Given the description of an element on the screen output the (x, y) to click on. 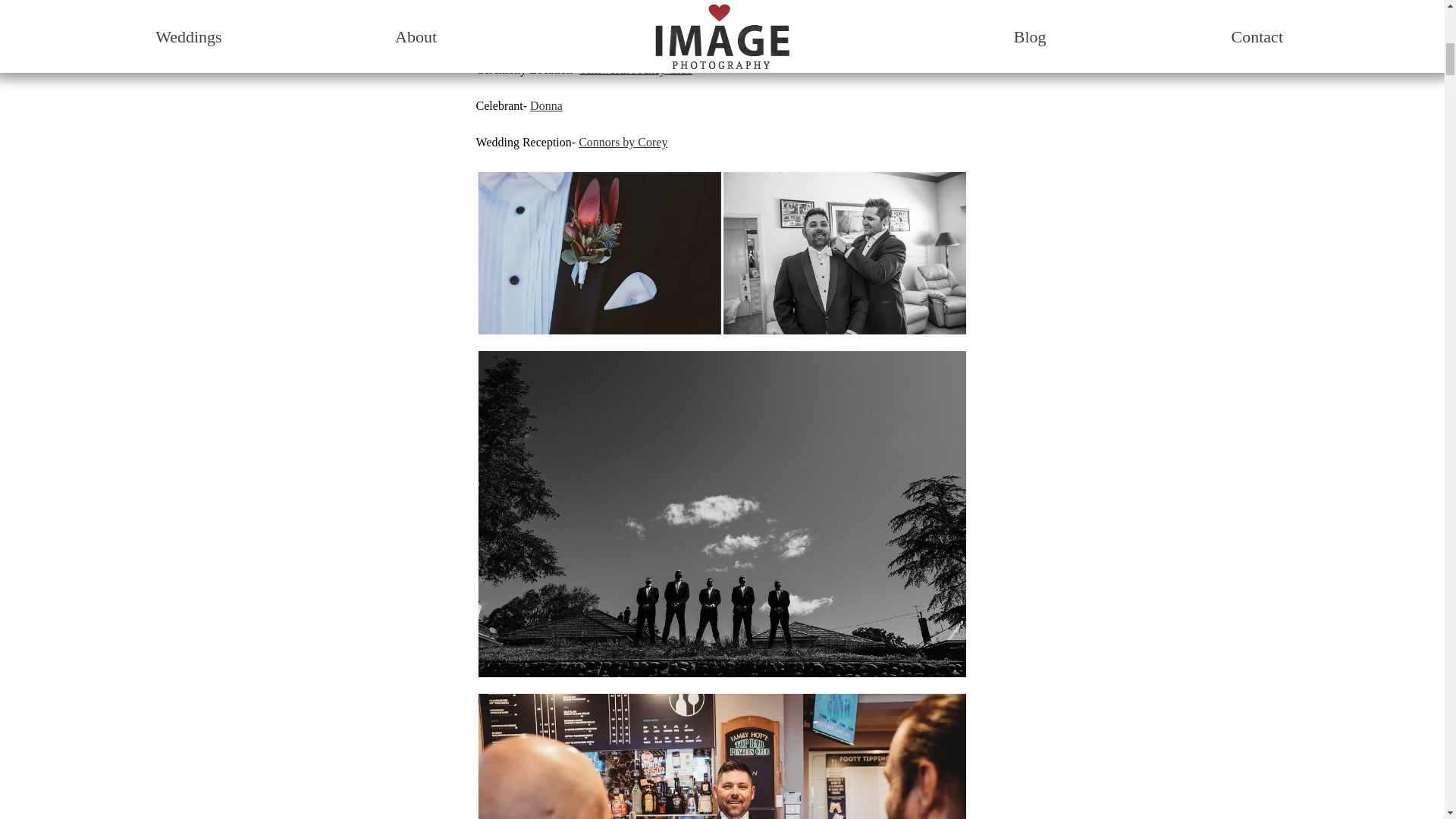
Connors by Corey (622, 141)
Donna (545, 105)
Designer Bunches (565, 1)
Amanda Louise (559, 32)
Tamworth Jockey Club (636, 69)
